Given the description of an element on the screen output the (x, y) to click on. 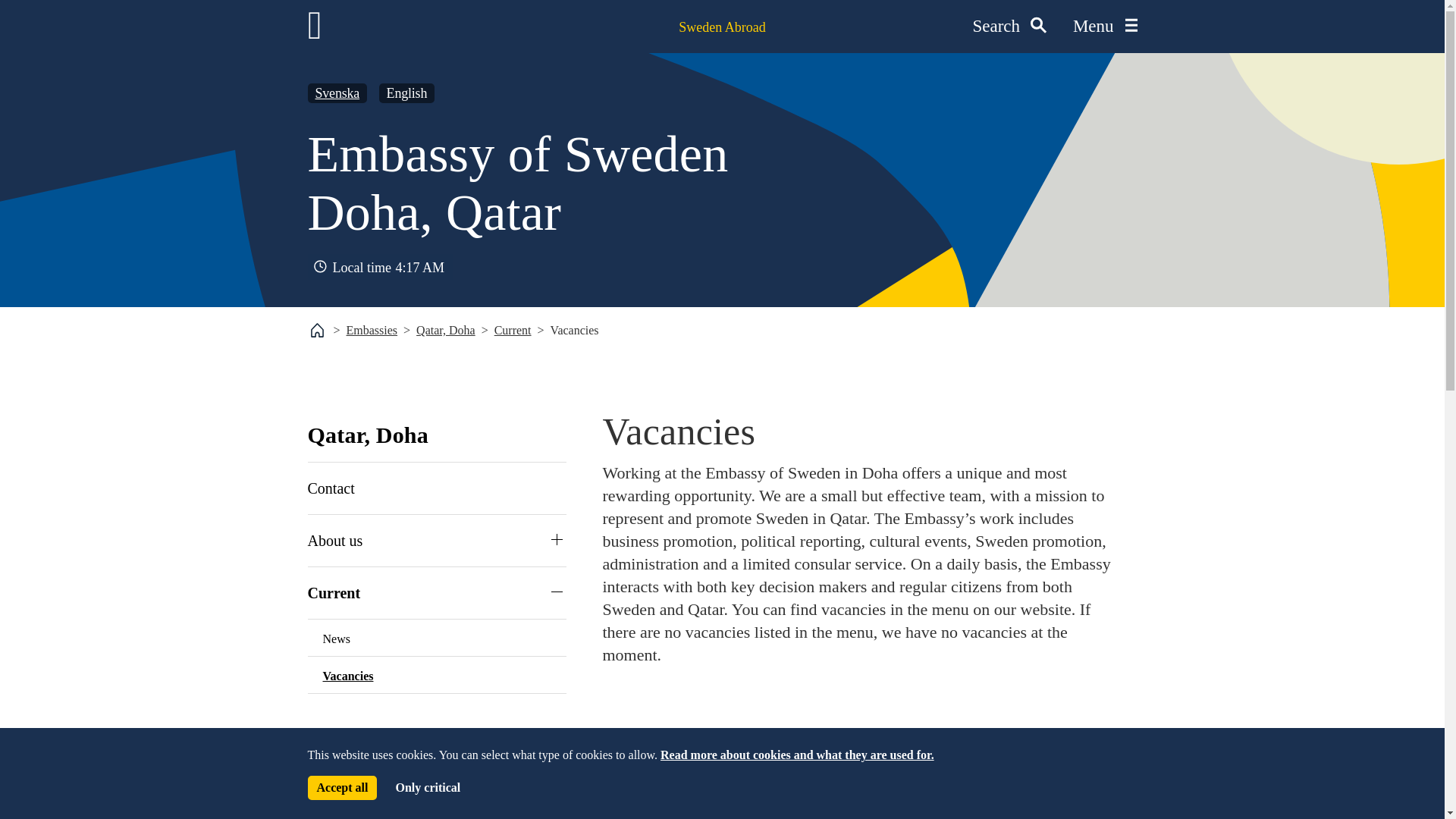
Sweden Abroad (721, 27)
Search (1008, 26)
Menu (1105, 26)
